Given the description of an element on the screen output the (x, y) to click on. 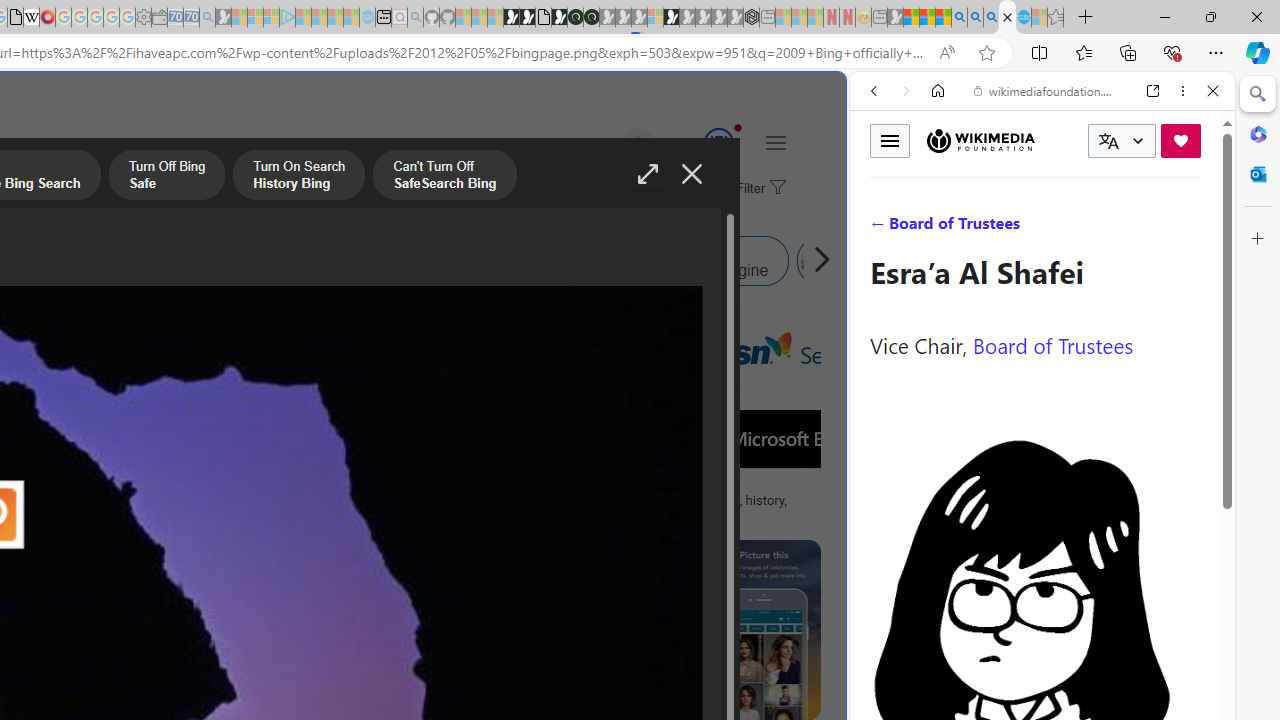
Bing Logo, symbol, meaning, history, PNG, brand (695, 508)
Full screen (648, 173)
Eugene (611, 143)
Filter (758, 189)
Settings and quick links (775, 142)
Turn Off Bing Safe (166, 177)
